Given the description of an element on the screen output the (x, y) to click on. 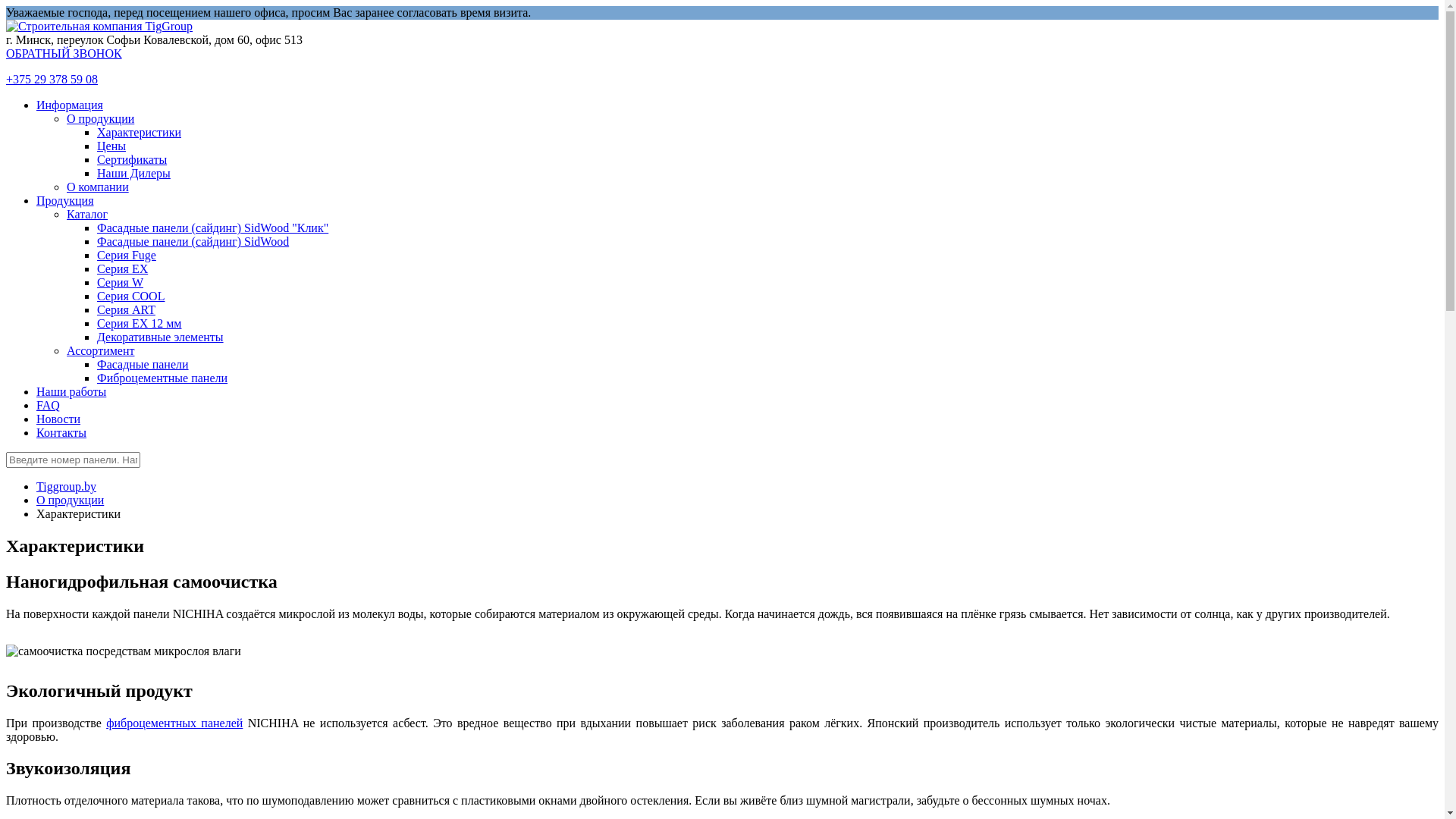
Tiggroup.by Element type: text (66, 486)
FAQ Element type: text (47, 404)
+375 29 378 59 08 Element type: text (51, 78)
